Given the description of an element on the screen output the (x, y) to click on. 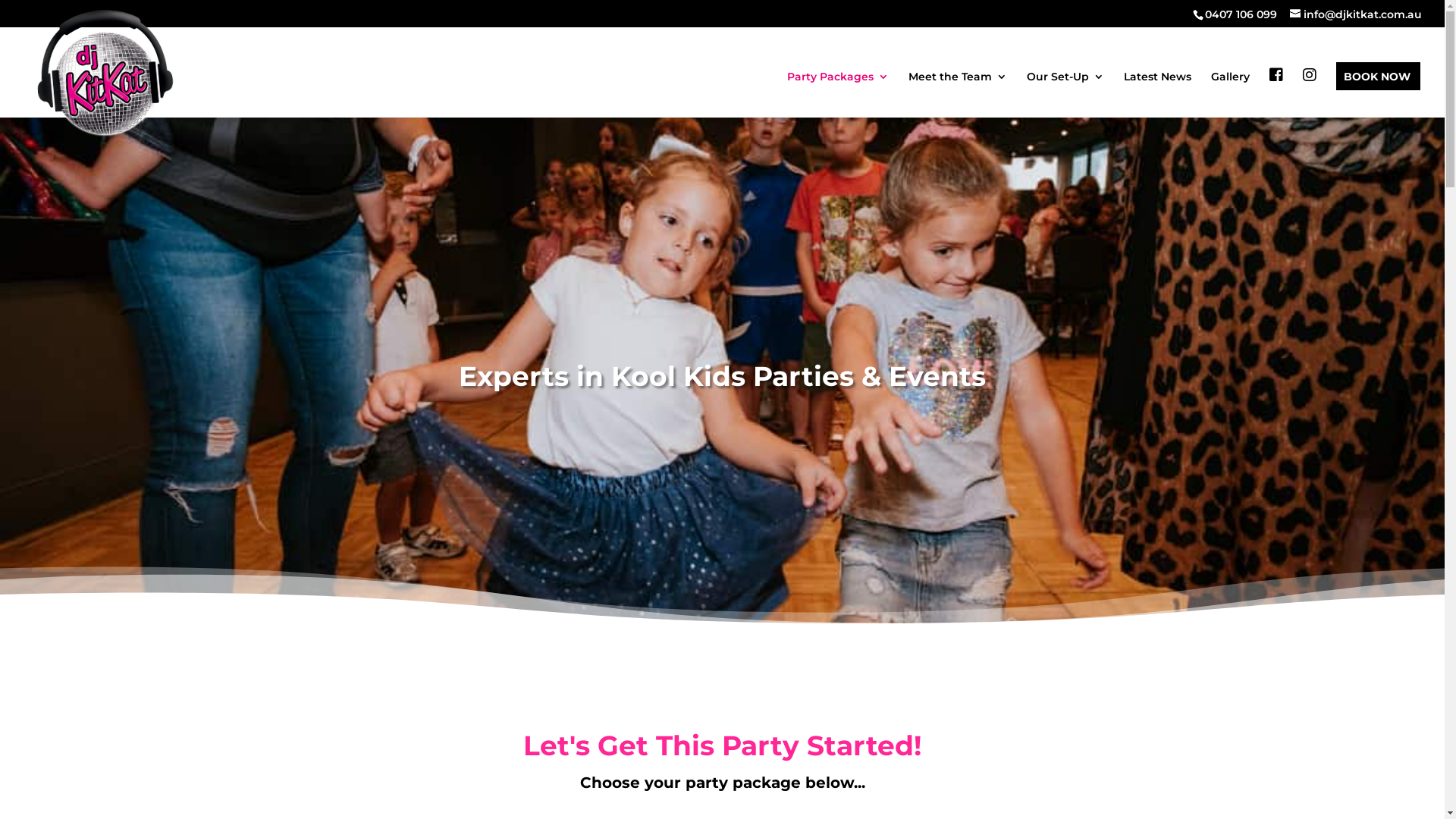
BOOK NOW Element type: text (1376, 93)
Latest News Element type: text (1157, 93)
Gallery Element type: text (1230, 93)
Our Set-Up Element type: text (1065, 93)
Party Packages Element type: text (837, 93)
info@djkitkat.com.au Element type: text (1355, 14)
Meet the Team Element type: text (957, 93)
